Given the description of an element on the screen output the (x, y) to click on. 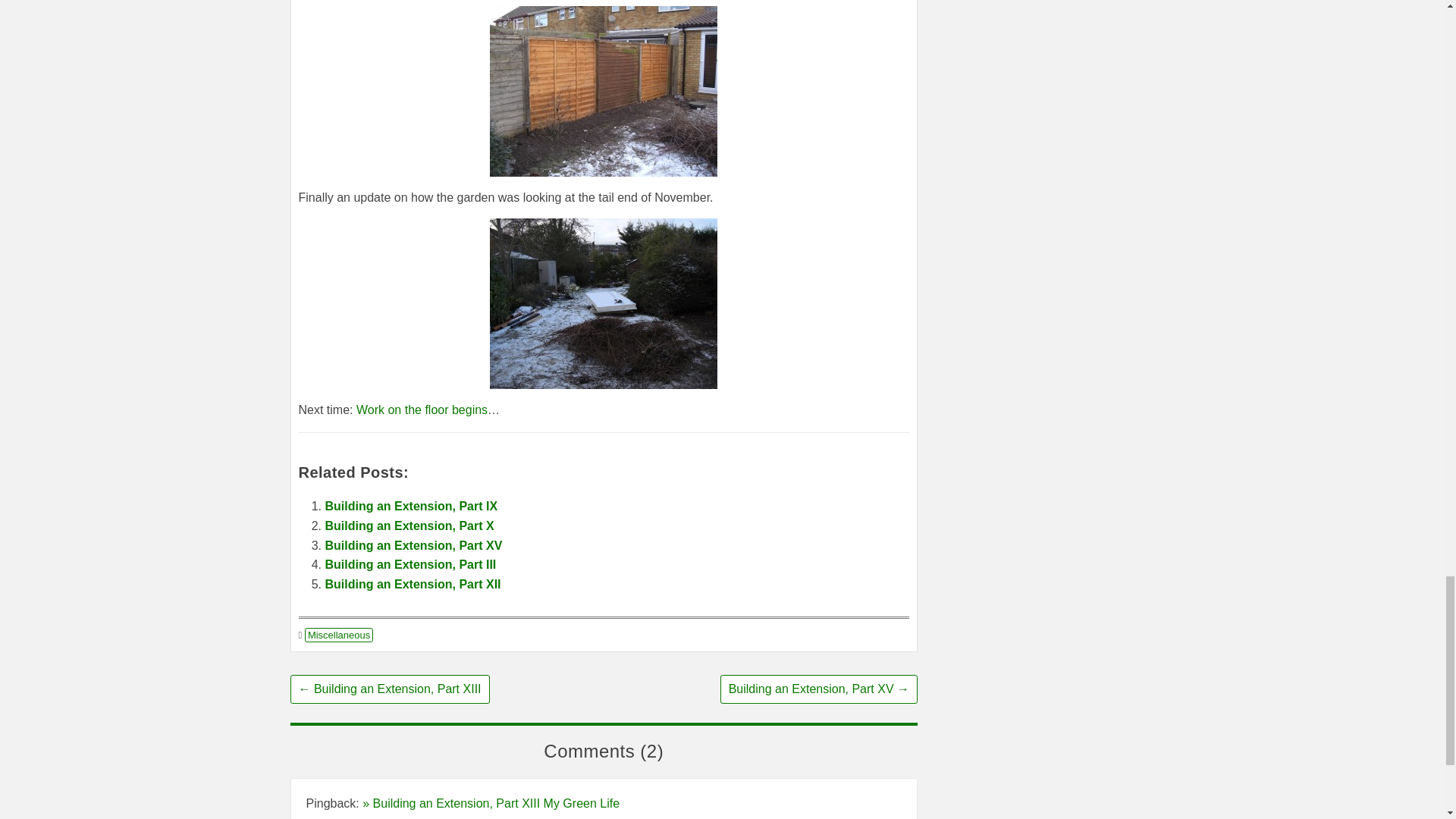
Building an Extension, Part IX (410, 505)
Building an Extension, Part III (410, 563)
Building an Extension, Part IX (410, 505)
Building an Extension, Part X (408, 525)
Building an Extension, Part XV (413, 545)
Work on the floor begins (421, 409)
Building an Extension, Part XII (412, 584)
Building an Extension, Part X (408, 525)
Building an Extension, Part XV (413, 545)
Building an Extension, Part III (410, 563)
Miscellaneous (338, 635)
